Given the description of an element on the screen output the (x, y) to click on. 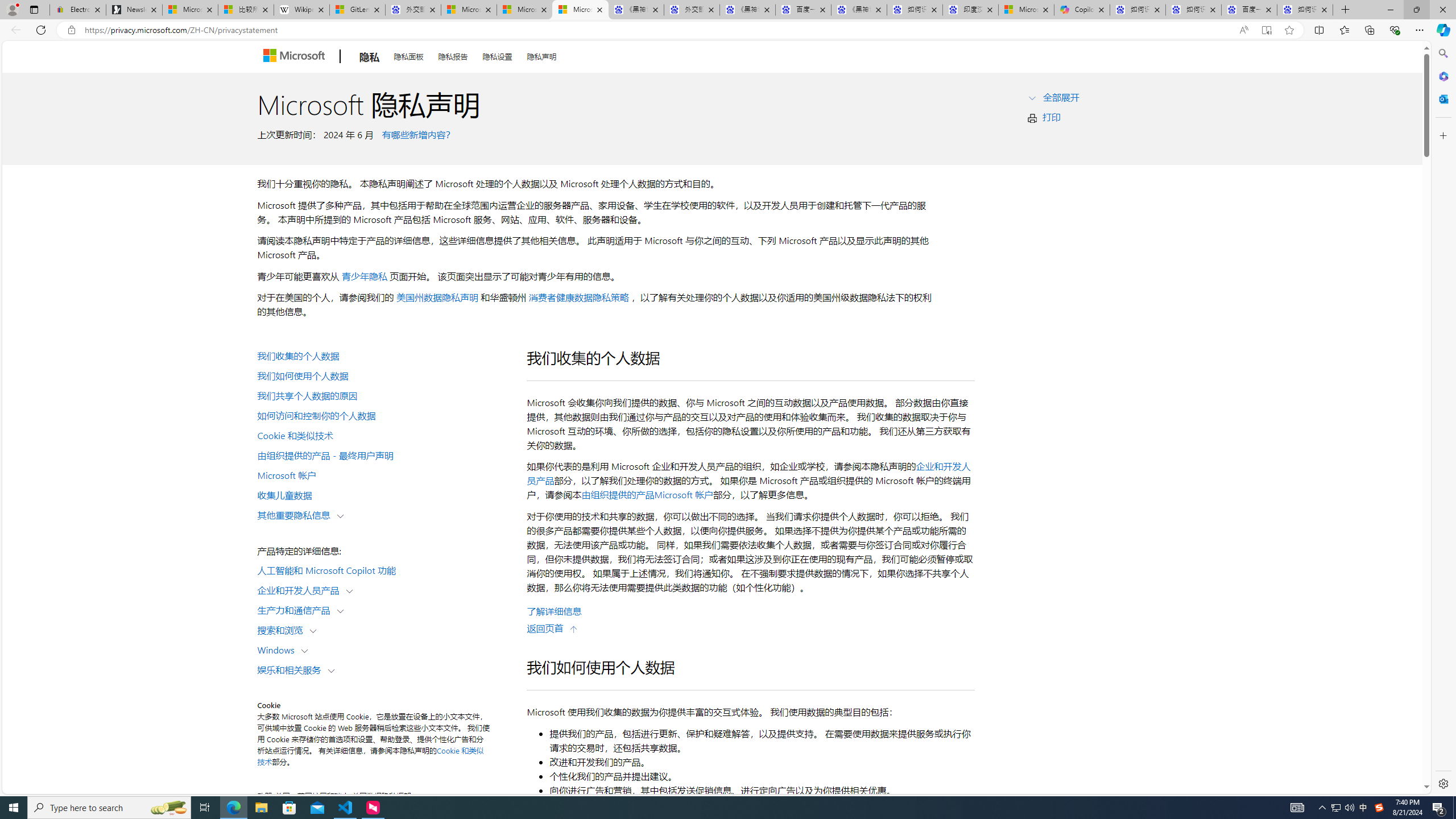
Wikipedia (301, 9)
